Given the description of an element on the screen output the (x, y) to click on. 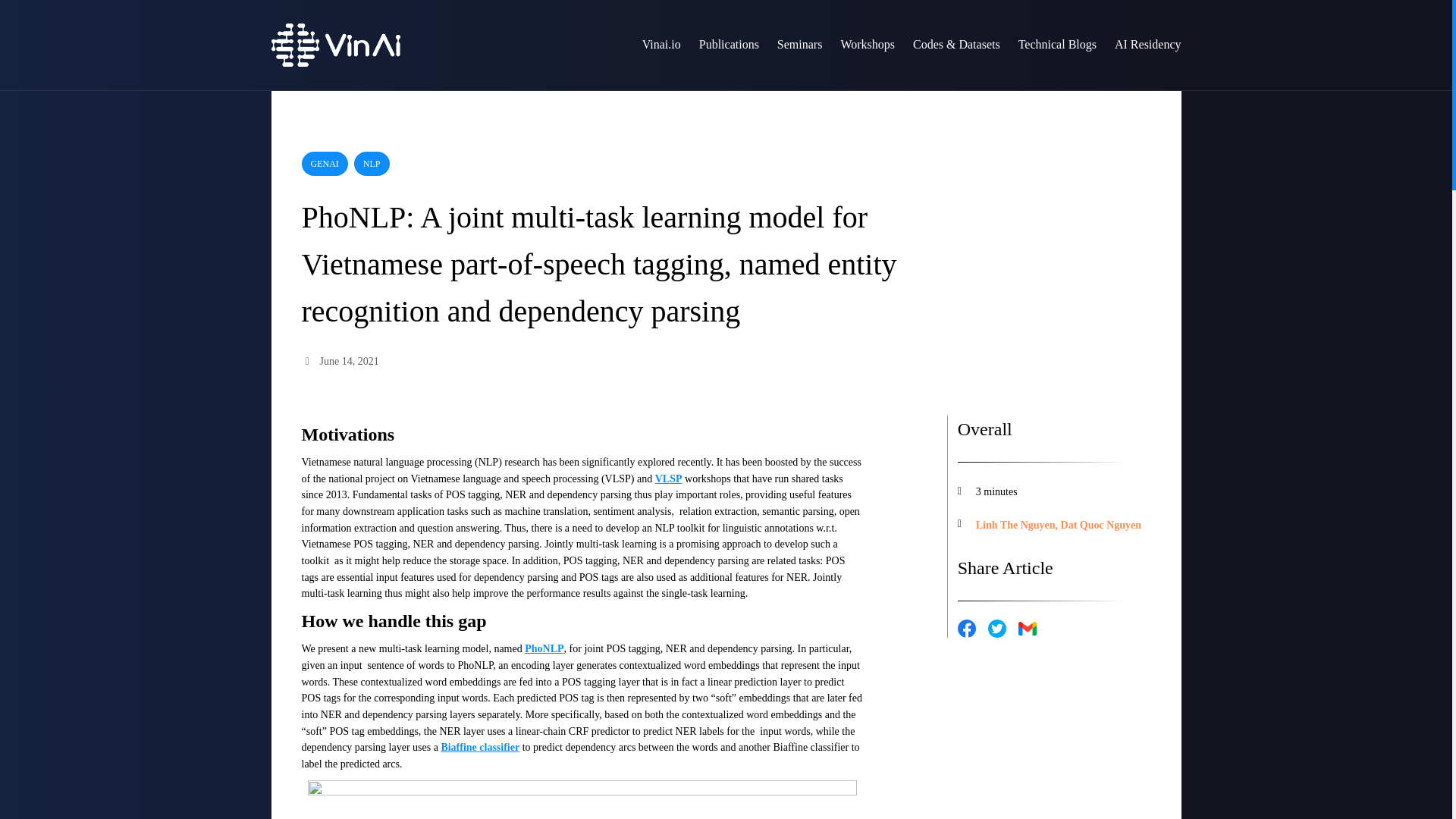
PhoNLP (543, 648)
Workshops (867, 45)
Vinai.io (661, 45)
Technical Blogs (1057, 45)
Seminars (799, 45)
Biaffine classifier (480, 747)
AI Residency (1148, 45)
VLSP (668, 478)
Publications (729, 45)
